Given the description of an element on the screen output the (x, y) to click on. 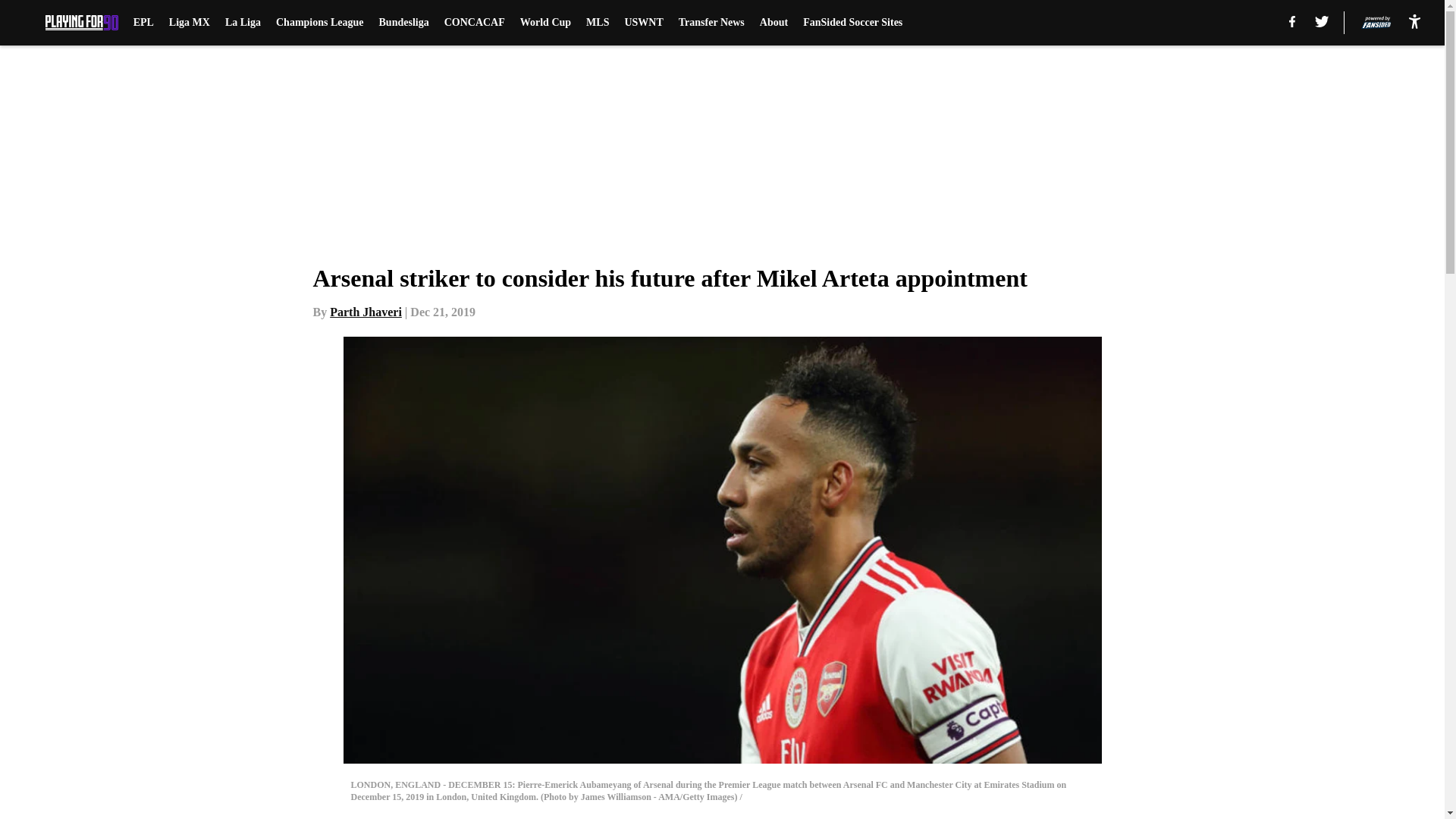
Transfer News (711, 22)
About (773, 22)
La Liga (242, 22)
MLS (597, 22)
World Cup (544, 22)
CONCACAF (474, 22)
Bundesliga (403, 22)
EPL (143, 22)
Parth Jhaveri (365, 311)
USWNT (643, 22)
